Given the description of an element on the screen output the (x, y) to click on. 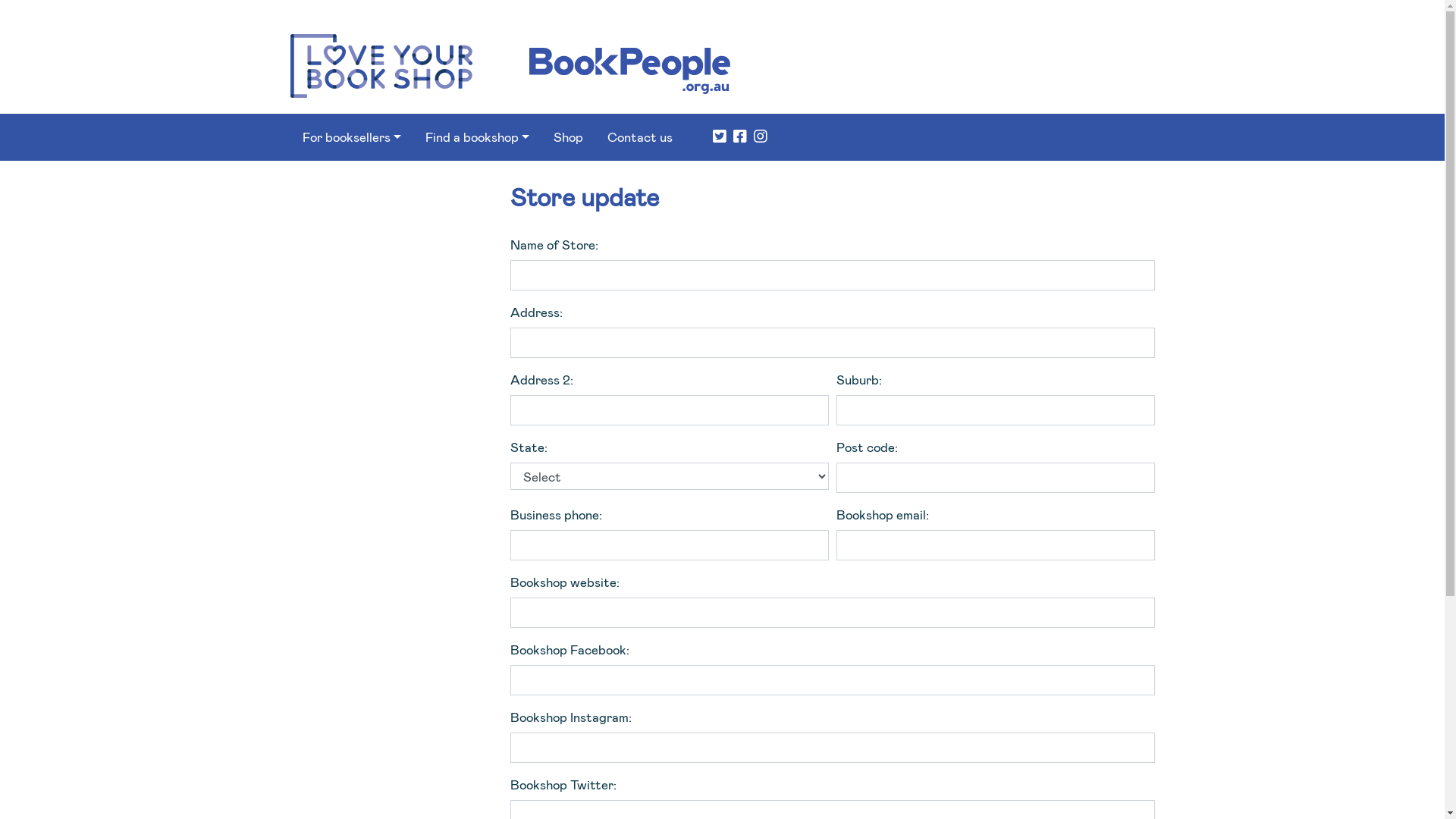
Shop Element type: text (568, 137)
Twitter Element type: hover (717, 137)
For booksellers Element type: text (350, 137)
Instagram Element type: hover (758, 137)
Facebook Element type: hover (738, 137)
Find a bookshop Element type: text (477, 137)
Contact us Element type: text (639, 137)
